Given the description of an element on the screen output the (x, y) to click on. 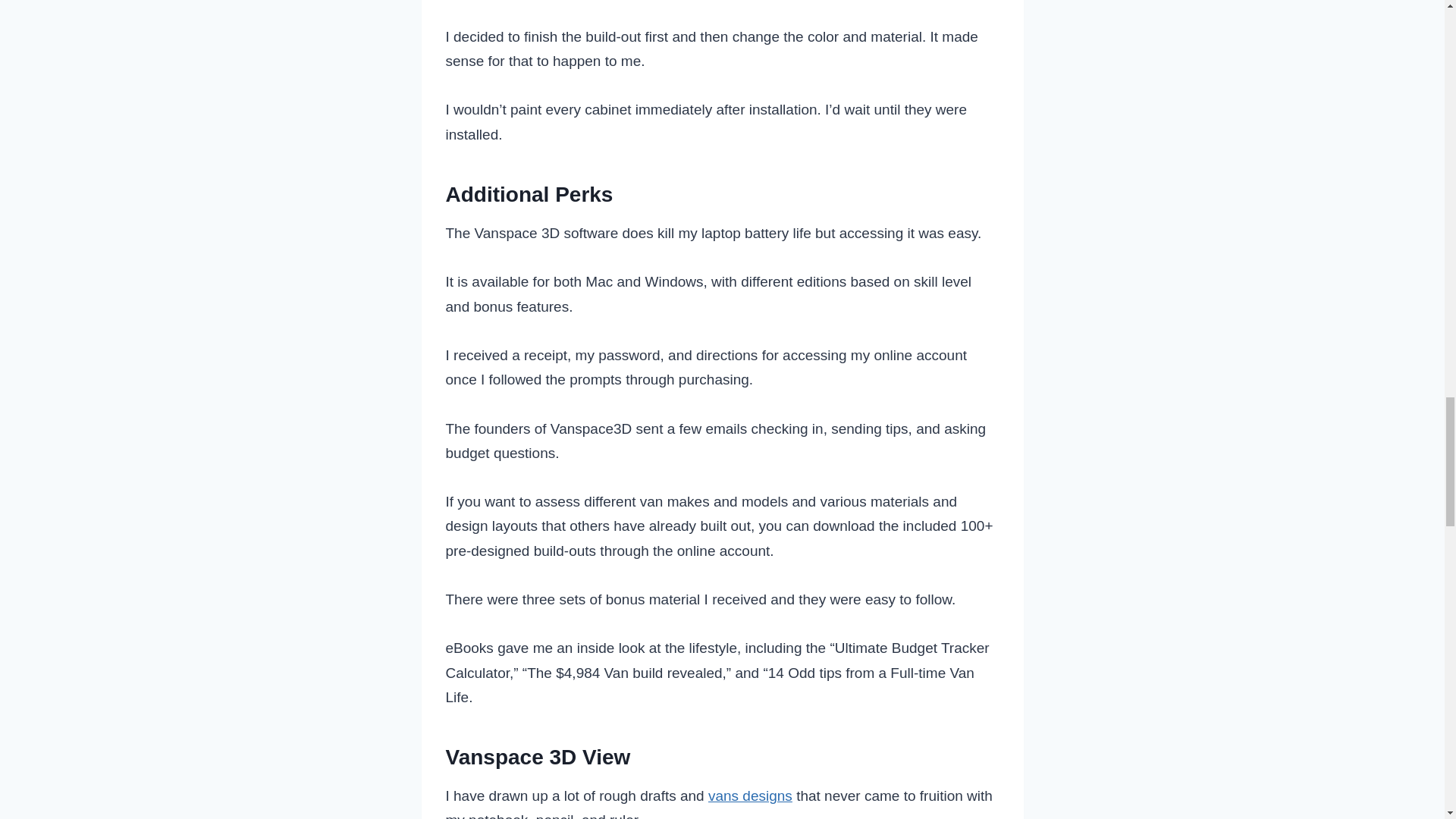
vans designs (749, 795)
